Given the description of an element on the screen output the (x, y) to click on. 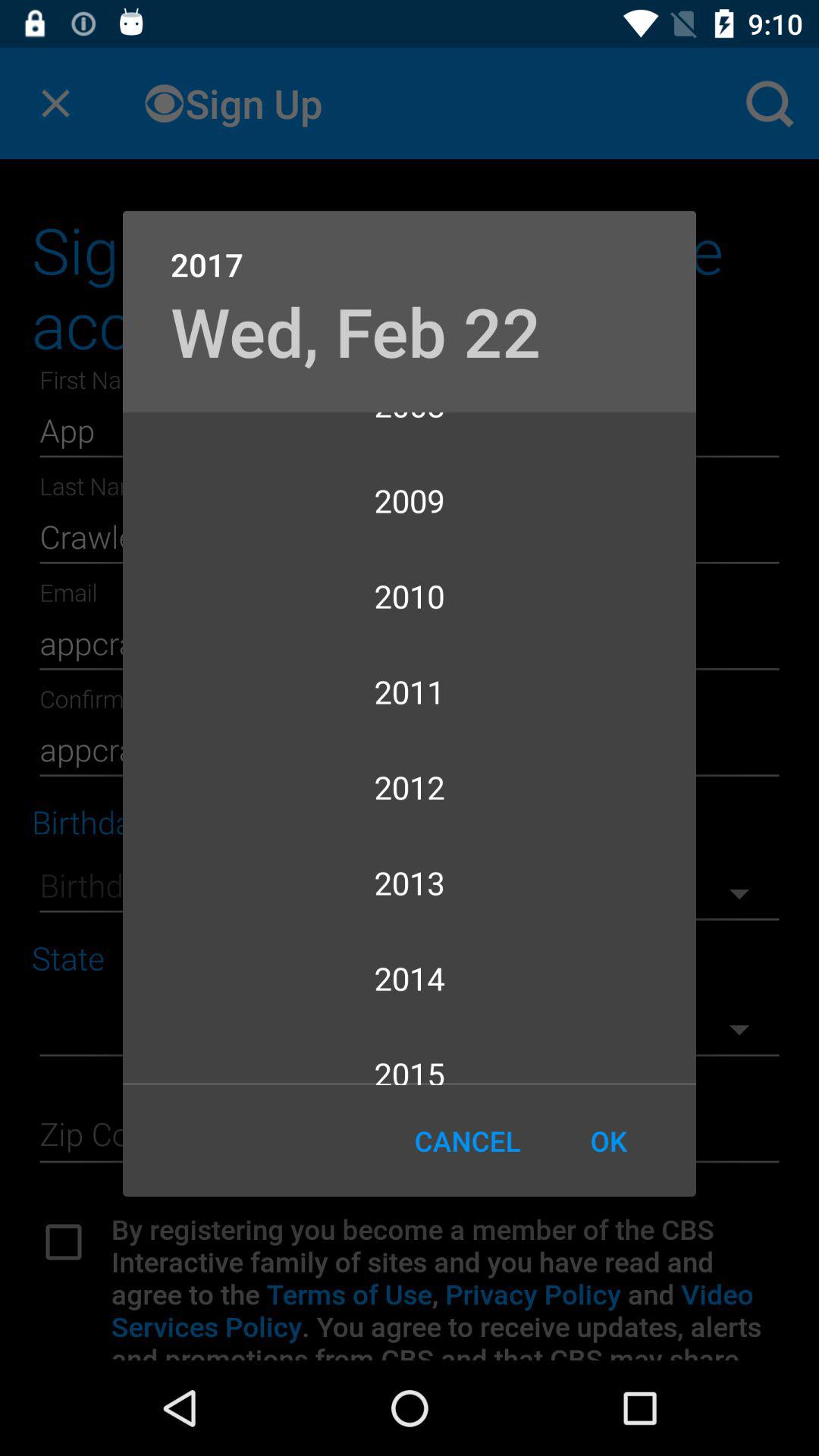
choose the icon next to cancel item (608, 1140)
